Given the description of an element on the screen output the (x, y) to click on. 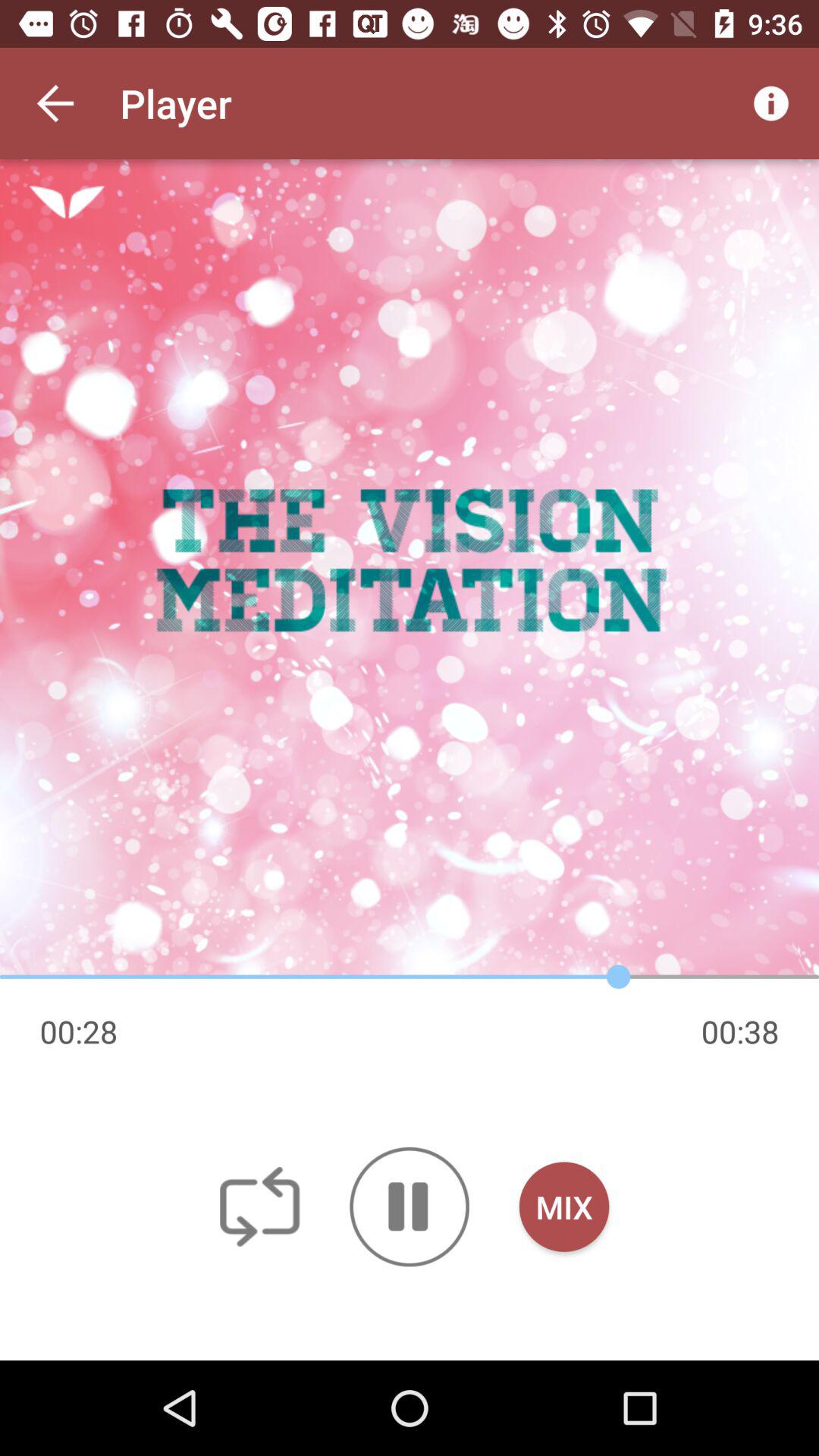
choose icon at the top right corner (771, 103)
